Given the description of an element on the screen output the (x, y) to click on. 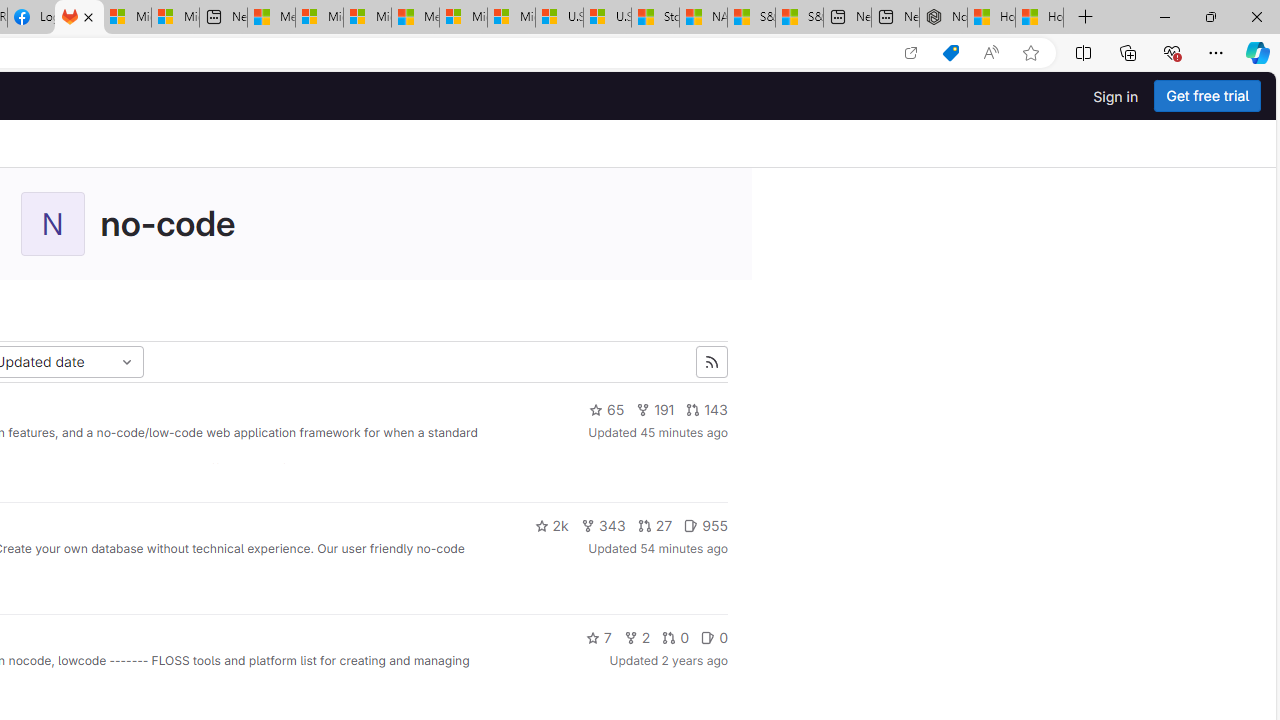
143 (707, 409)
Get free trial (1207, 95)
955 (705, 525)
Class: s16 gl-icon gl-button-icon  (711, 362)
7 (597, 637)
Class: s14 gl-mr-2 (708, 637)
Shopping in Microsoft Edge (950, 53)
Microsoft account | Home (367, 17)
2 (637, 637)
Subscribe to the new projects feed (712, 362)
2k (551, 525)
191 (655, 409)
